Given the description of an element on the screen output the (x, y) to click on. 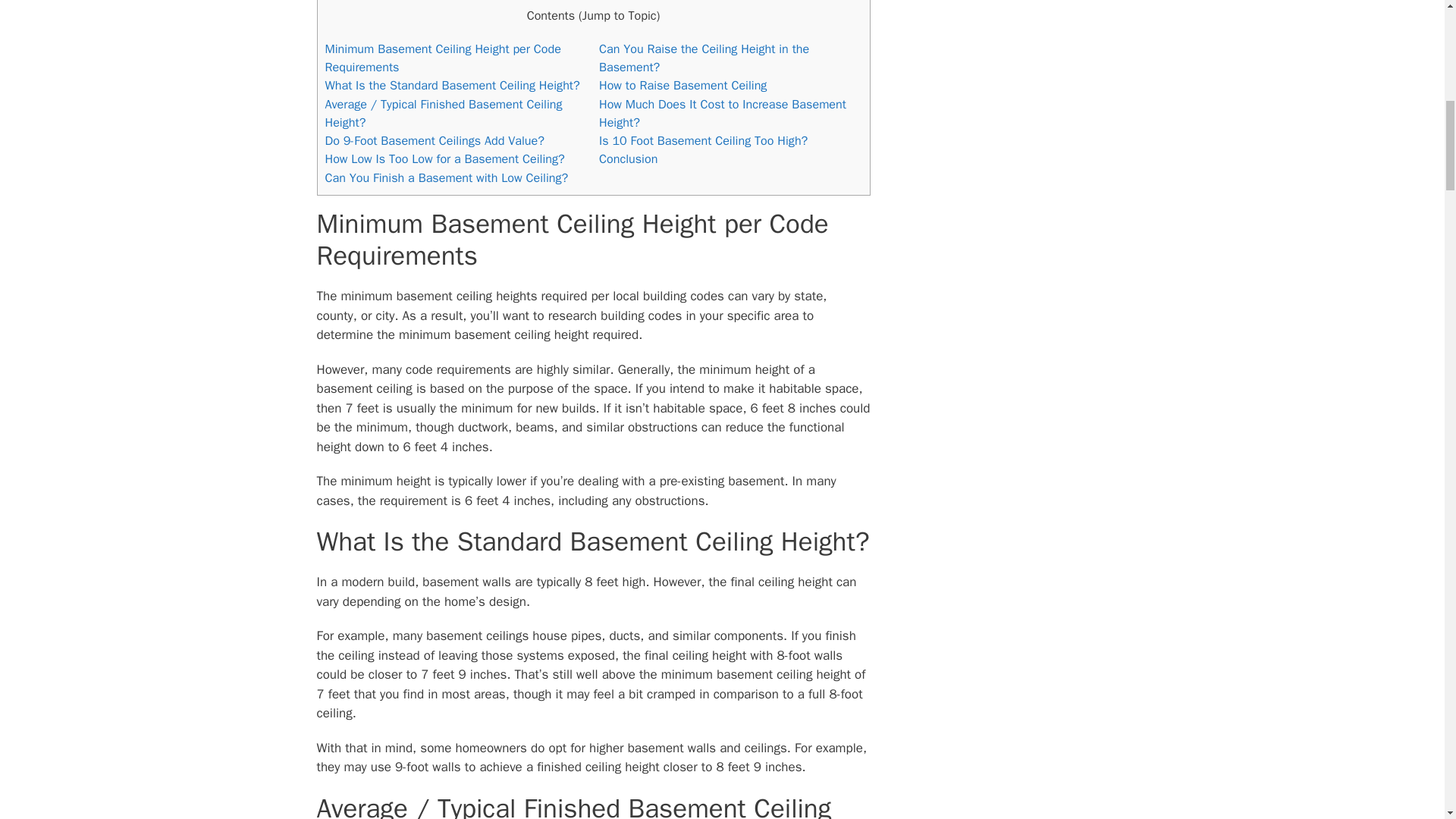
Minimum Basement Ceiling Height per Code Requirements (442, 57)
Conclusion (628, 158)
Can You Raise the Ceiling Height in the Basement? (703, 57)
Can You Finish a Basement with Low Ceiling? (445, 177)
What Is the Standard Basement Ceiling Height? (451, 84)
How Much Does It Cost to Increase Basement Height? (721, 113)
How to Raise Basement Ceiling (682, 84)
How Low Is Too Low for a Basement Ceiling? (444, 158)
Do 9-Foot Basement Ceilings Add Value? (433, 140)
Is 10 Foot Basement Ceiling Too High? (703, 140)
